Given the description of an element on the screen output the (x, y) to click on. 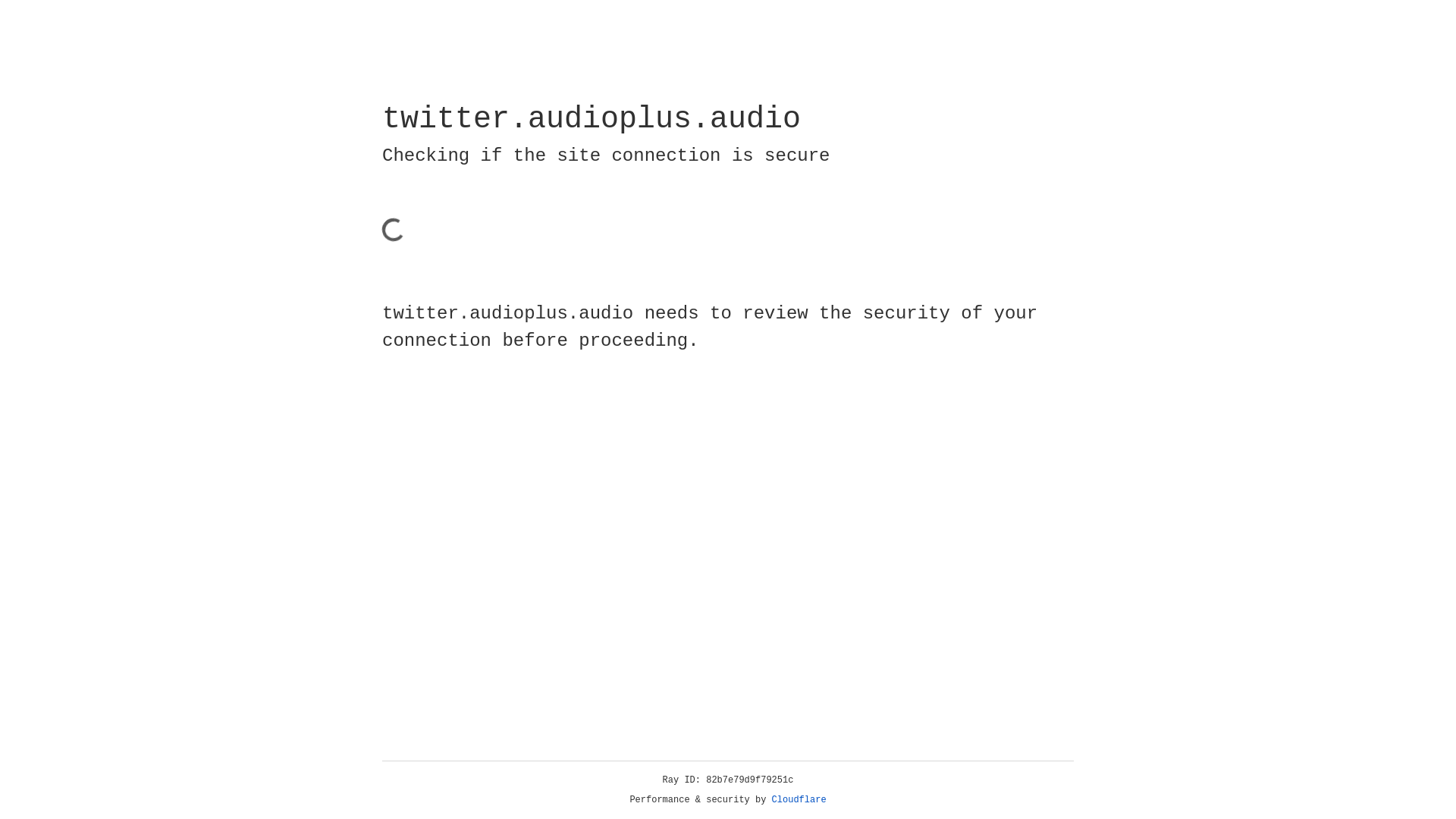
Cloudflare Element type: text (798, 799)
